Given the description of an element on the screen output the (x, y) to click on. 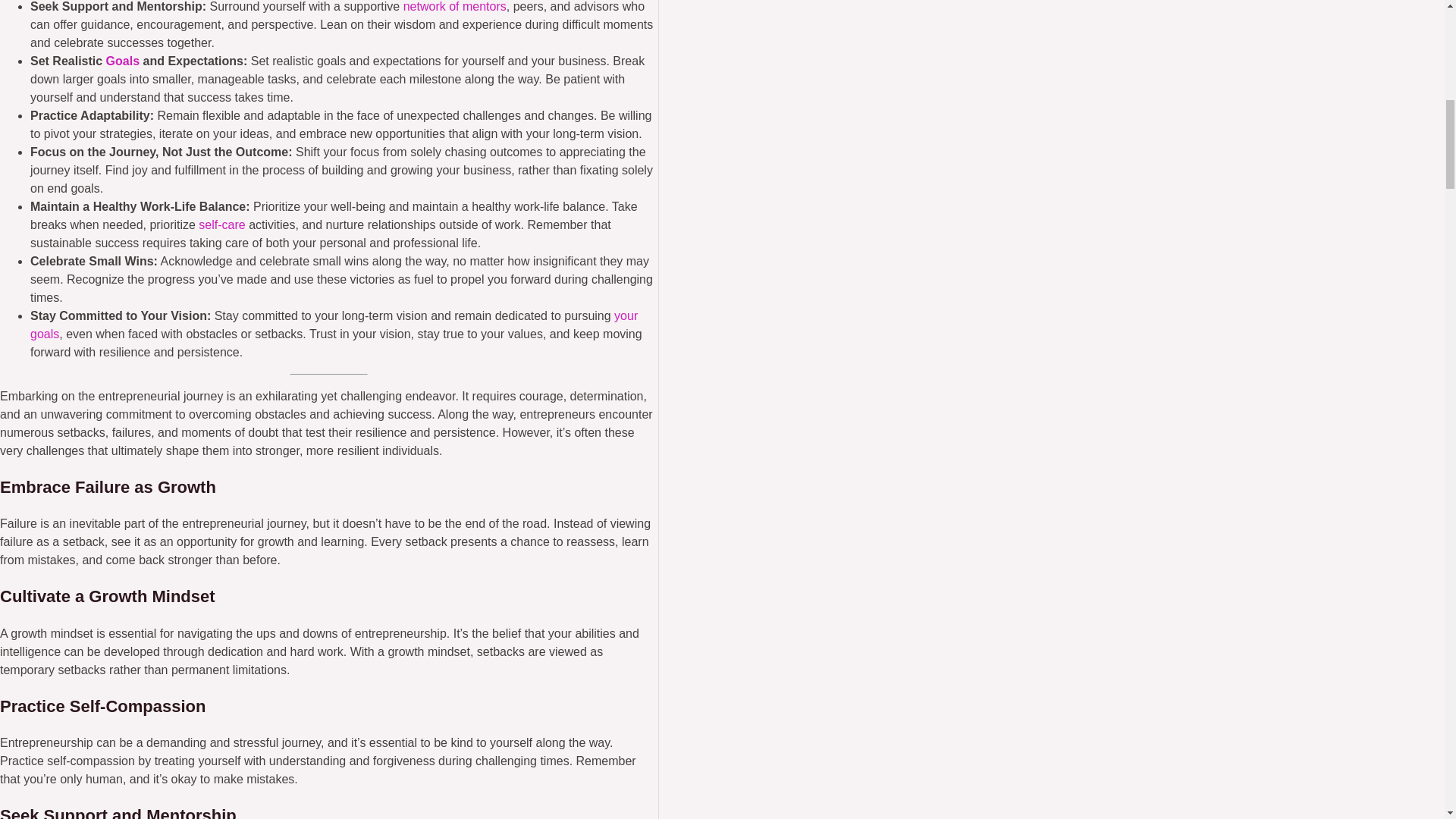
Goals (122, 60)
network of mentors (454, 6)
your goals (333, 324)
self-care (221, 224)
